Given the description of an element on the screen output the (x, y) to click on. 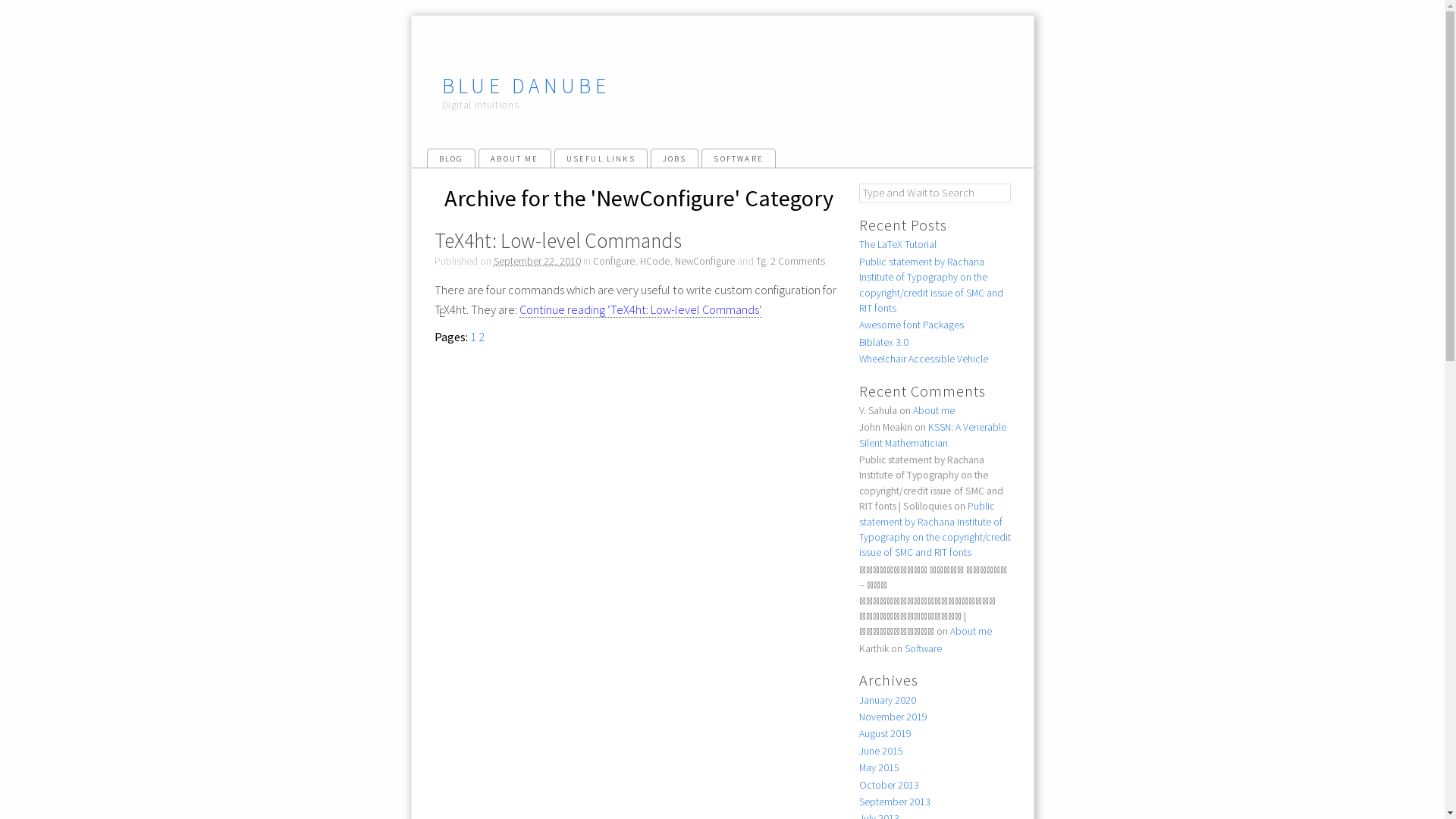
Software Element type: text (922, 648)
BLUE DANUBE Element type: text (525, 85)
Awesome font Packages Element type: text (910, 324)
About me Element type: text (970, 630)
Biblatex 3.0 Element type: text (882, 341)
KSSN: A Venerable Silent Mathematician Element type: text (931, 434)
2 Comments Element type: text (797, 261)
About me Element type: text (933, 410)
SOFTWARE Element type: text (738, 158)
USEFUL LINKS Element type: text (600, 158)
June 2015 Element type: text (880, 750)
ABOUT ME Element type: text (514, 158)
Configure Element type: text (613, 260)
The LaTeX Tutorial Element type: text (896, 244)
August 2019 Element type: text (884, 733)
2 Element type: text (480, 336)
Tg Element type: text (760, 260)
September 2013 Element type: text (893, 801)
May 2015 Element type: text (878, 767)
JOBS Element type: text (674, 158)
October 2013 Element type: text (888, 784)
BLOG Element type: text (450, 158)
January 2020 Element type: text (886, 699)
1 Element type: text (473, 336)
November 2019 Element type: text (892, 716)
Wheelchair Accessible Vehicle Element type: text (922, 358)
NewConfigure Element type: text (704, 260)
HCode Element type: text (654, 260)
TeX4ht: Low-level Commands Element type: text (556, 240)
